Given the description of an element on the screen output the (x, y) to click on. 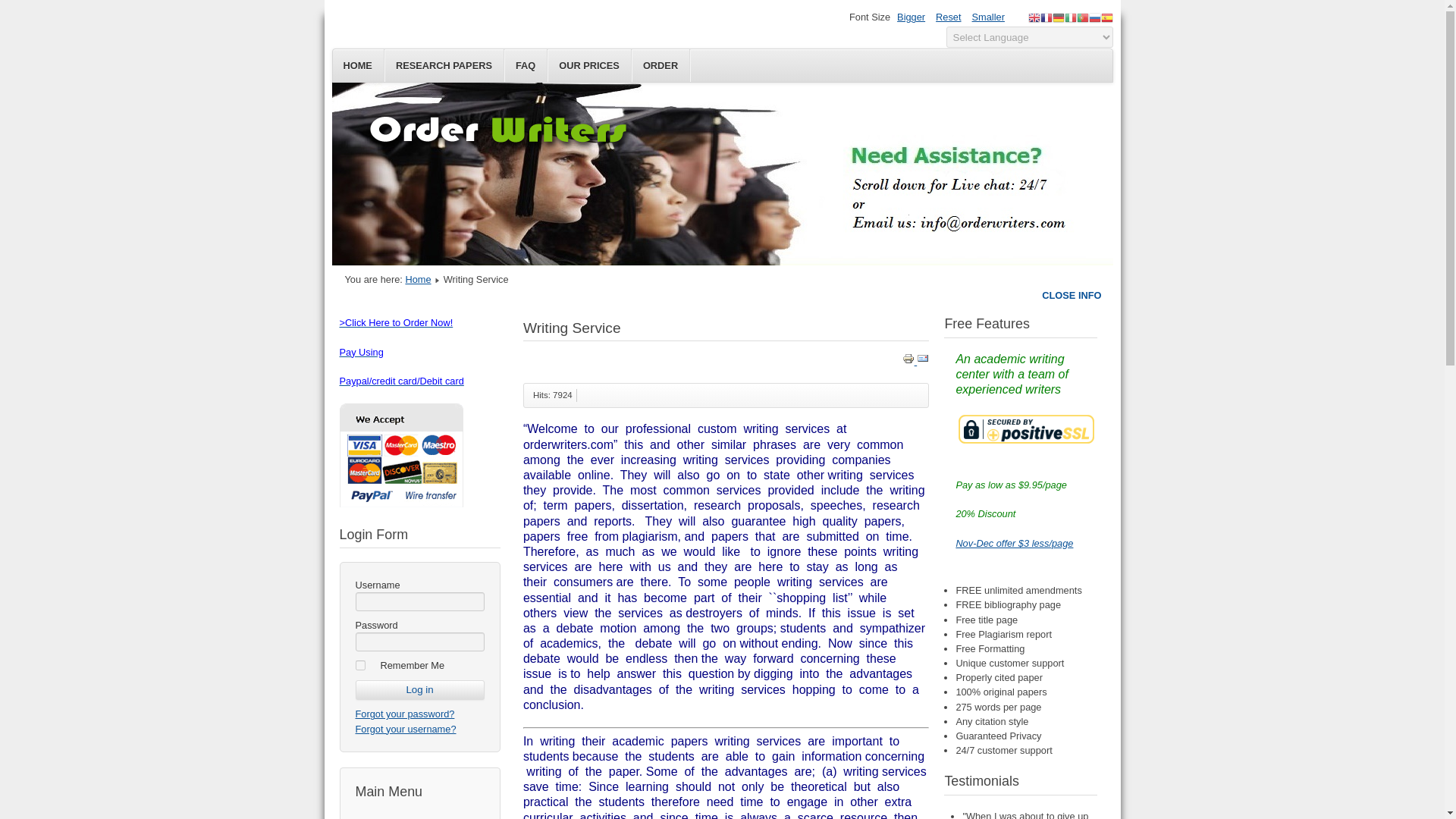
OUR PRICES (589, 65)
English (1034, 16)
Smaller (988, 16)
Spanish (1106, 16)
Bigger (910, 16)
Reset (947, 16)
Forgot your username? (405, 728)
Russian (1094, 16)
order (401, 380)
French (1046, 16)
order (401, 503)
Log in (419, 690)
Increase size (910, 16)
Italian (1070, 16)
